Given the description of an element on the screen output the (x, y) to click on. 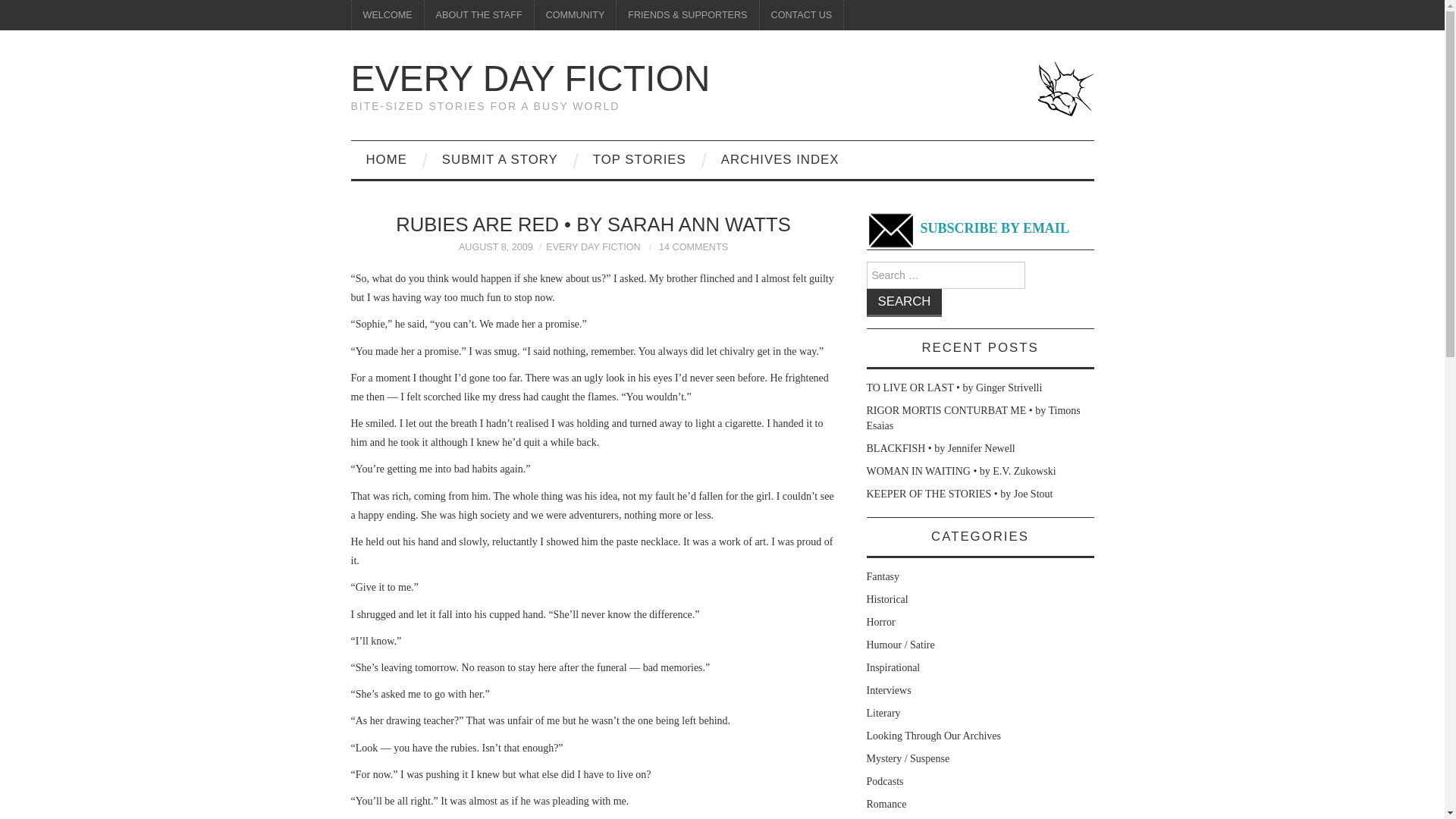
Search for: (945, 275)
EVERY DAY FICTION (593, 246)
Search (904, 302)
  SUBSCRIBE BY EMAIL (967, 229)
Literary (882, 713)
Search (904, 302)
Horror (880, 622)
TOP STORIES (639, 159)
WELCOME (387, 15)
Looking Through Our Archives (933, 736)
